Given the description of an element on the screen output the (x, y) to click on. 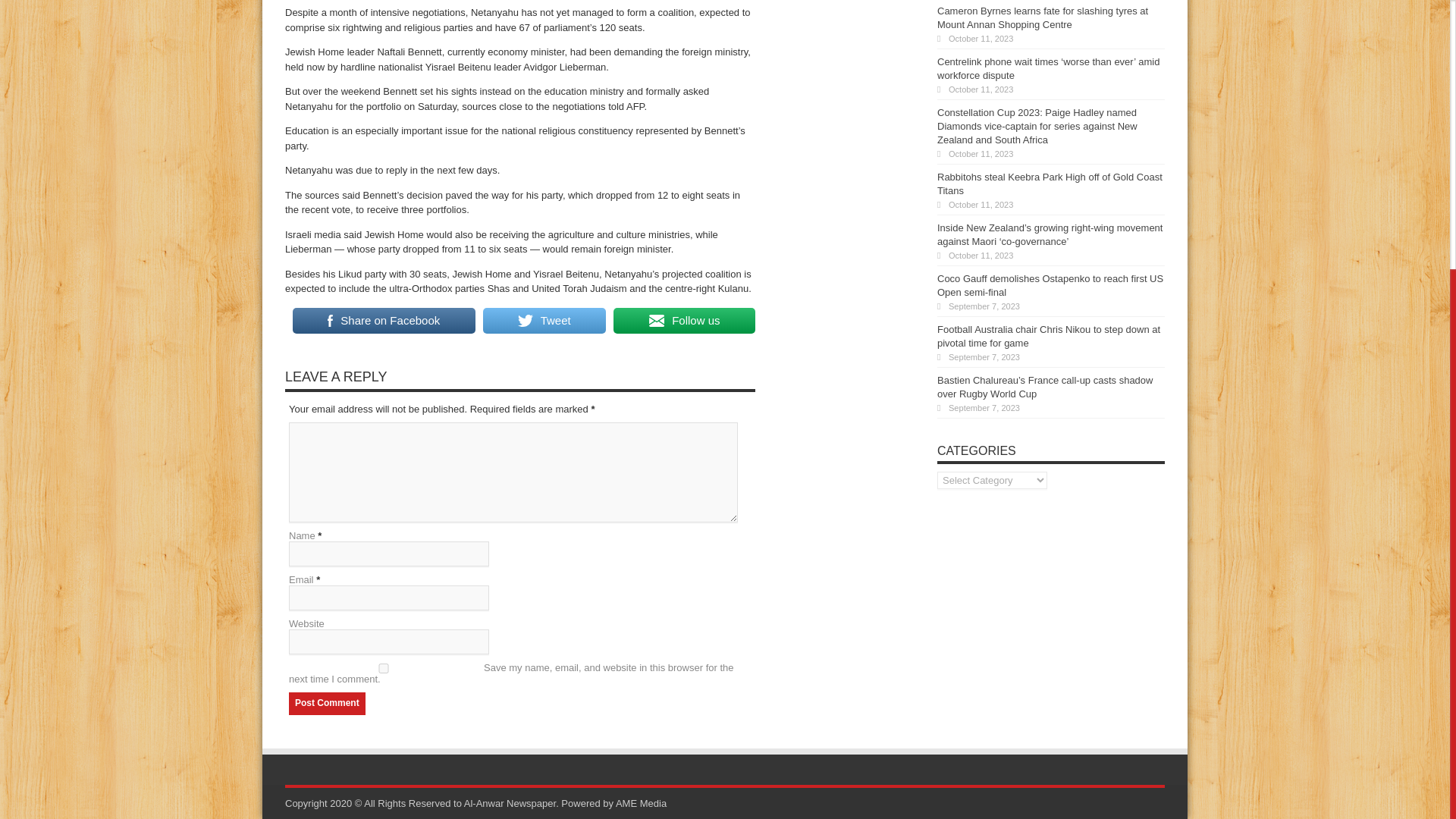
AME Media (640, 803)
Share on Facebook (384, 320)
yes (383, 667)
Follow us (683, 320)
Post Comment (326, 702)
Tweet (544, 320)
